Given the description of an element on the screen output the (x, y) to click on. 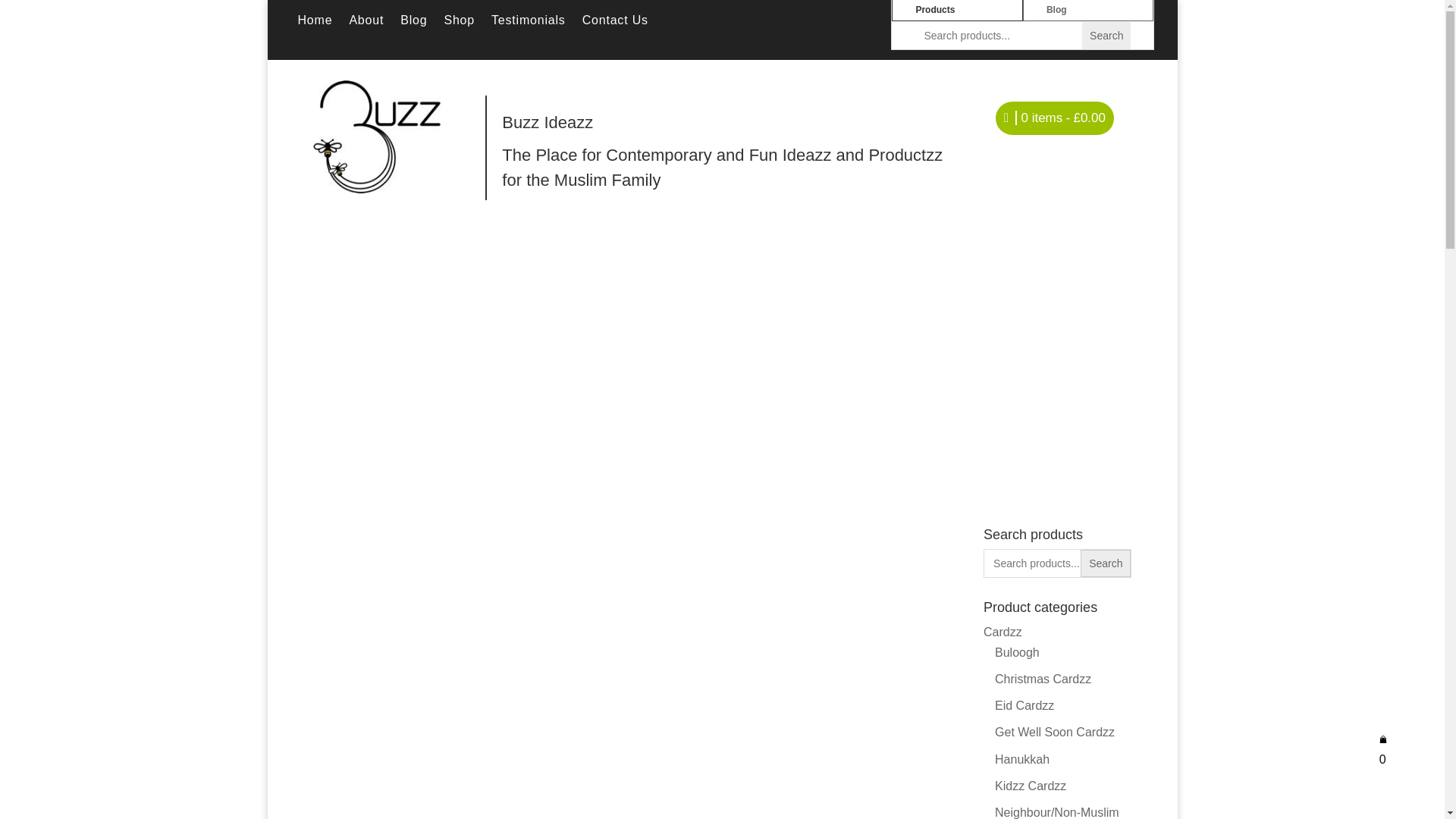
Contact Us (614, 23)
Start shopping (1054, 120)
Buloogh (1016, 652)
Search (1106, 35)
Kidzz Cardzz (1029, 785)
About (366, 23)
Home (314, 23)
Search (1105, 563)
Products (957, 10)
buzzlogo (376, 136)
Christmas Cardzz (1042, 678)
Search (1106, 35)
Cardzz (1003, 631)
Search (1106, 35)
Search (1105, 563)
